Given the description of an element on the screen output the (x, y) to click on. 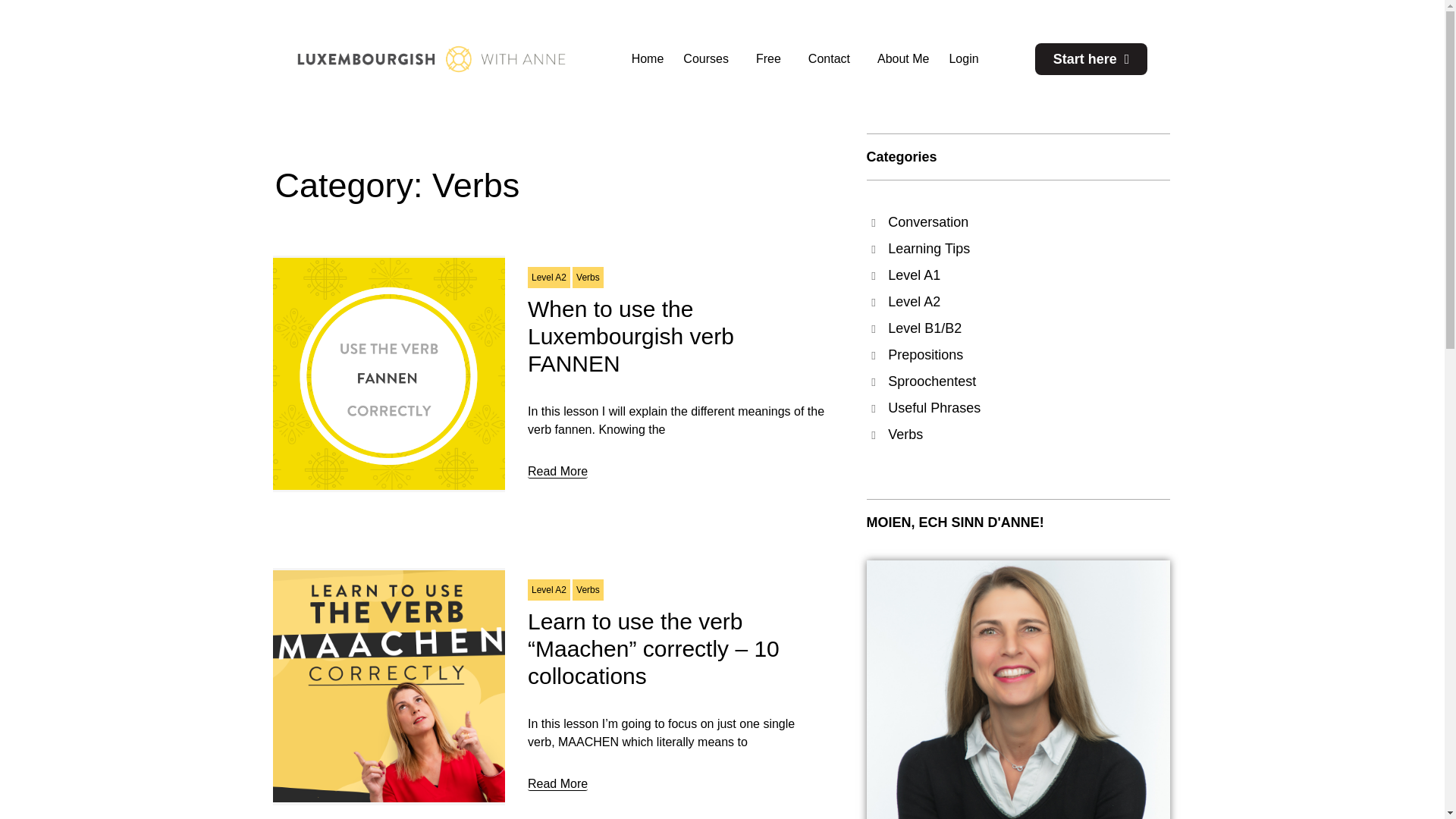
Level A2 (548, 589)
About Me (903, 58)
Read More (557, 472)
Login (963, 58)
Verbs (588, 589)
Contact (832, 58)
When to use the Luxembourgish verb FANNEN (630, 335)
Level A2 (548, 277)
Free (771, 58)
Verbs (588, 277)
